Given the description of an element on the screen output the (x, y) to click on. 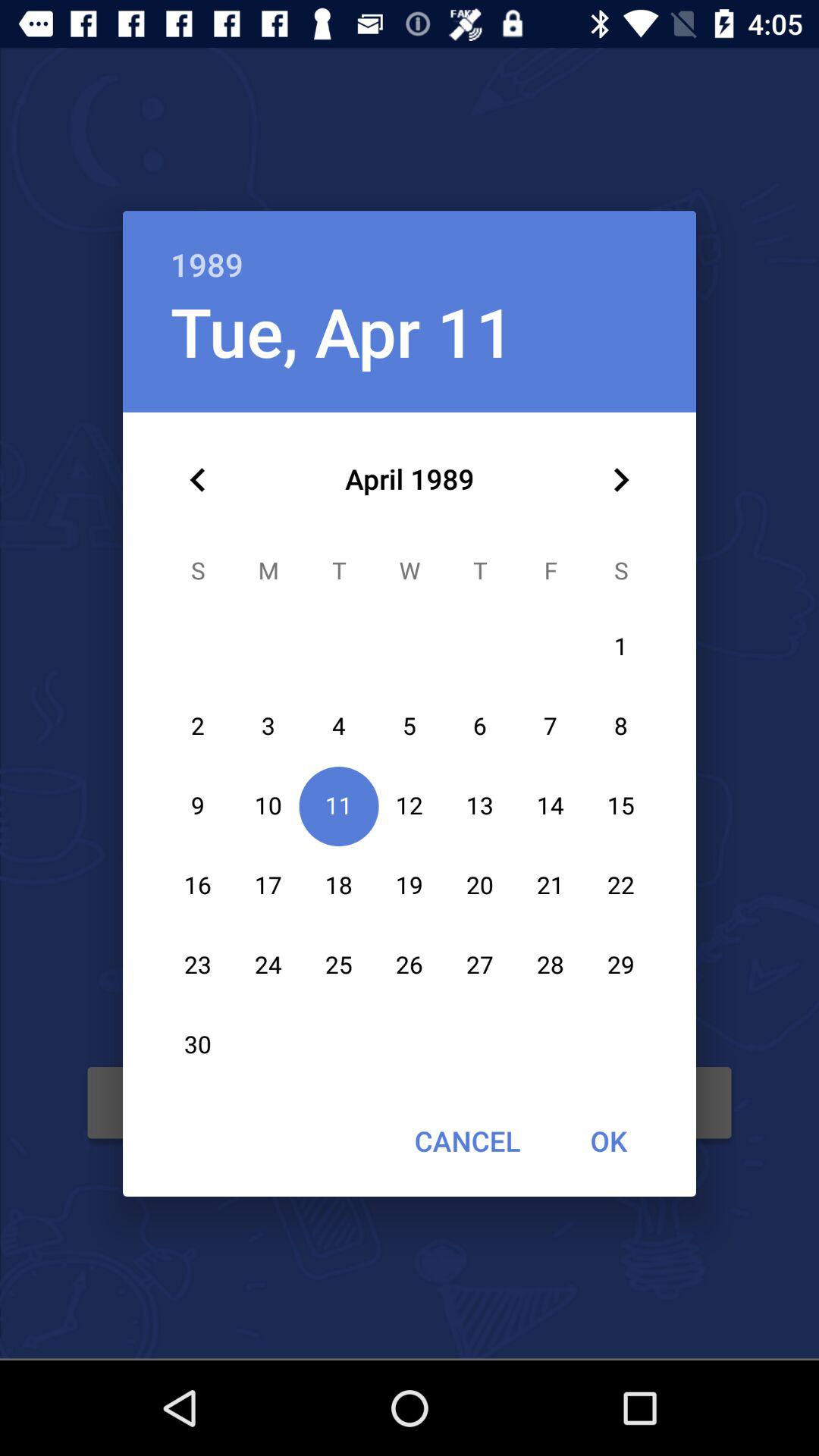
open item to the left of ok (467, 1140)
